Given the description of an element on the screen output the (x, y) to click on. 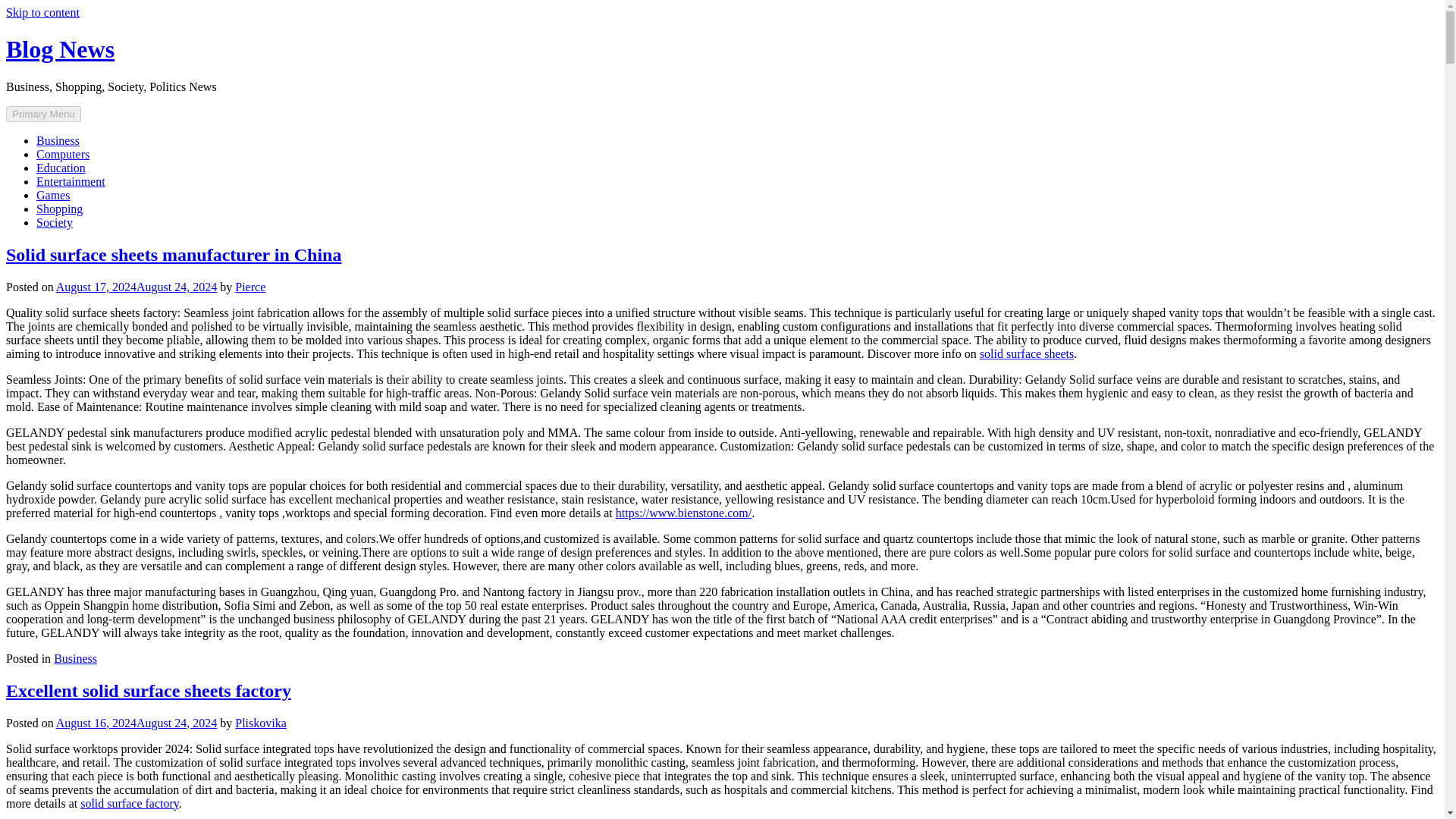
Society (54, 222)
Skip to content (42, 11)
Solid surface sheets manufacturer in China (172, 254)
solid surface sheets (1026, 353)
Shopping (59, 208)
Pliskovika (260, 721)
Business (58, 140)
Pierce (249, 286)
Games (52, 195)
Blog News (60, 49)
